Given the description of an element on the screen output the (x, y) to click on. 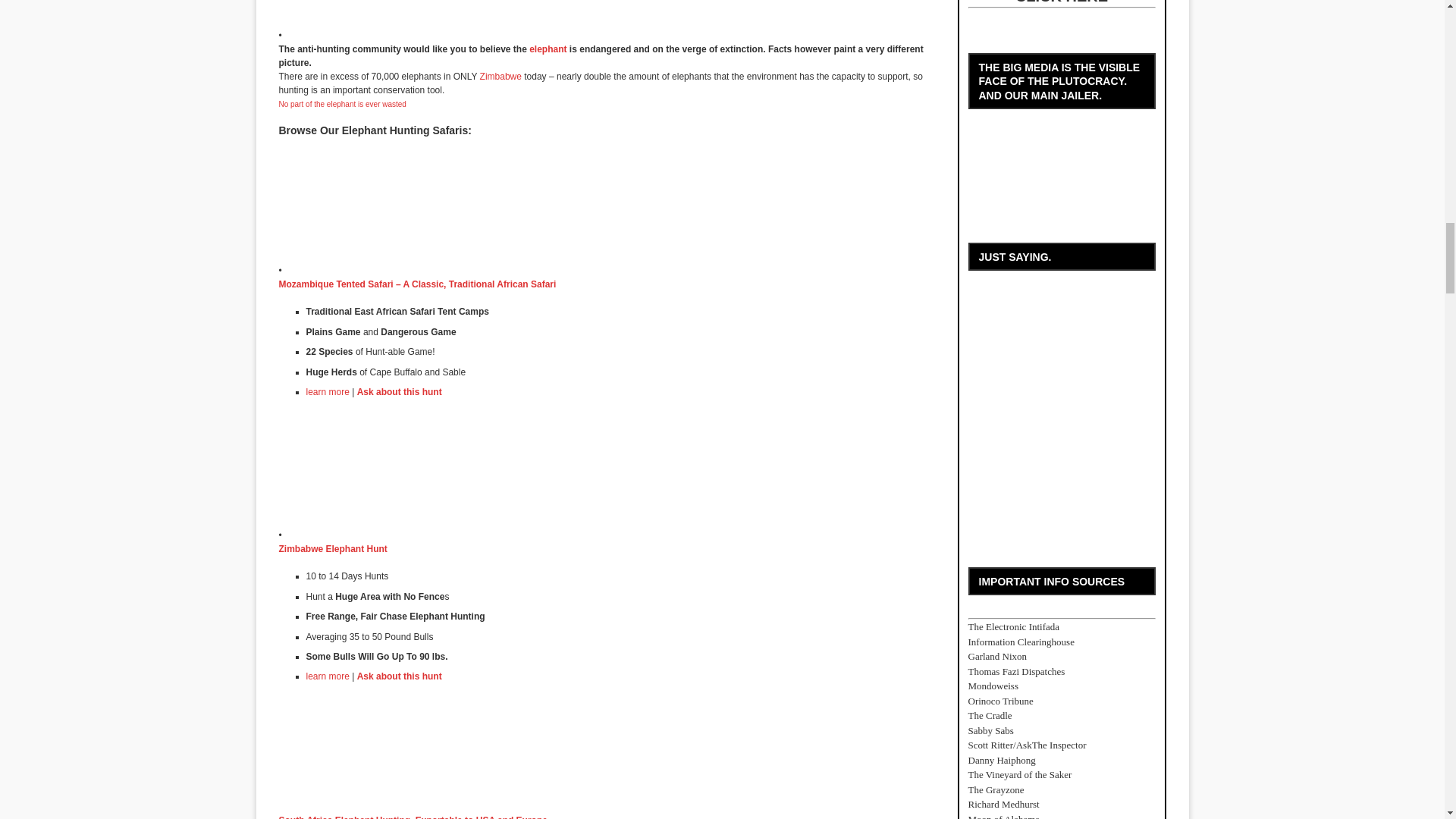
Zimbabwe (500, 76)
Tented Safari in Mozambique (327, 391)
elephant (547, 49)
